Given the description of an element on the screen output the (x, y) to click on. 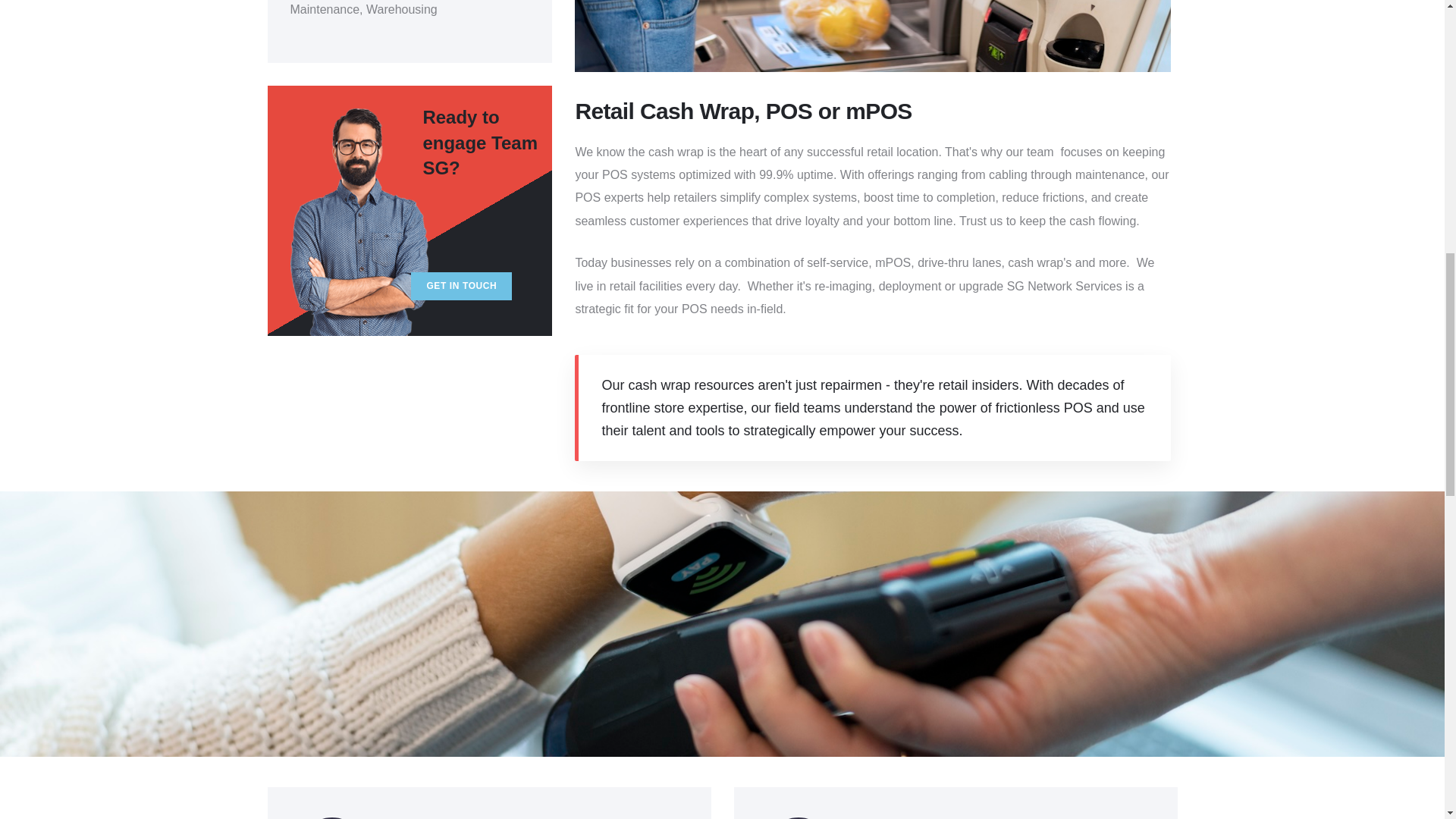
person-paying-with-its-smartphone-wallet-app (872, 35)
GET IN TOUCH (461, 285)
